Given the description of an element on the screen output the (x, y) to click on. 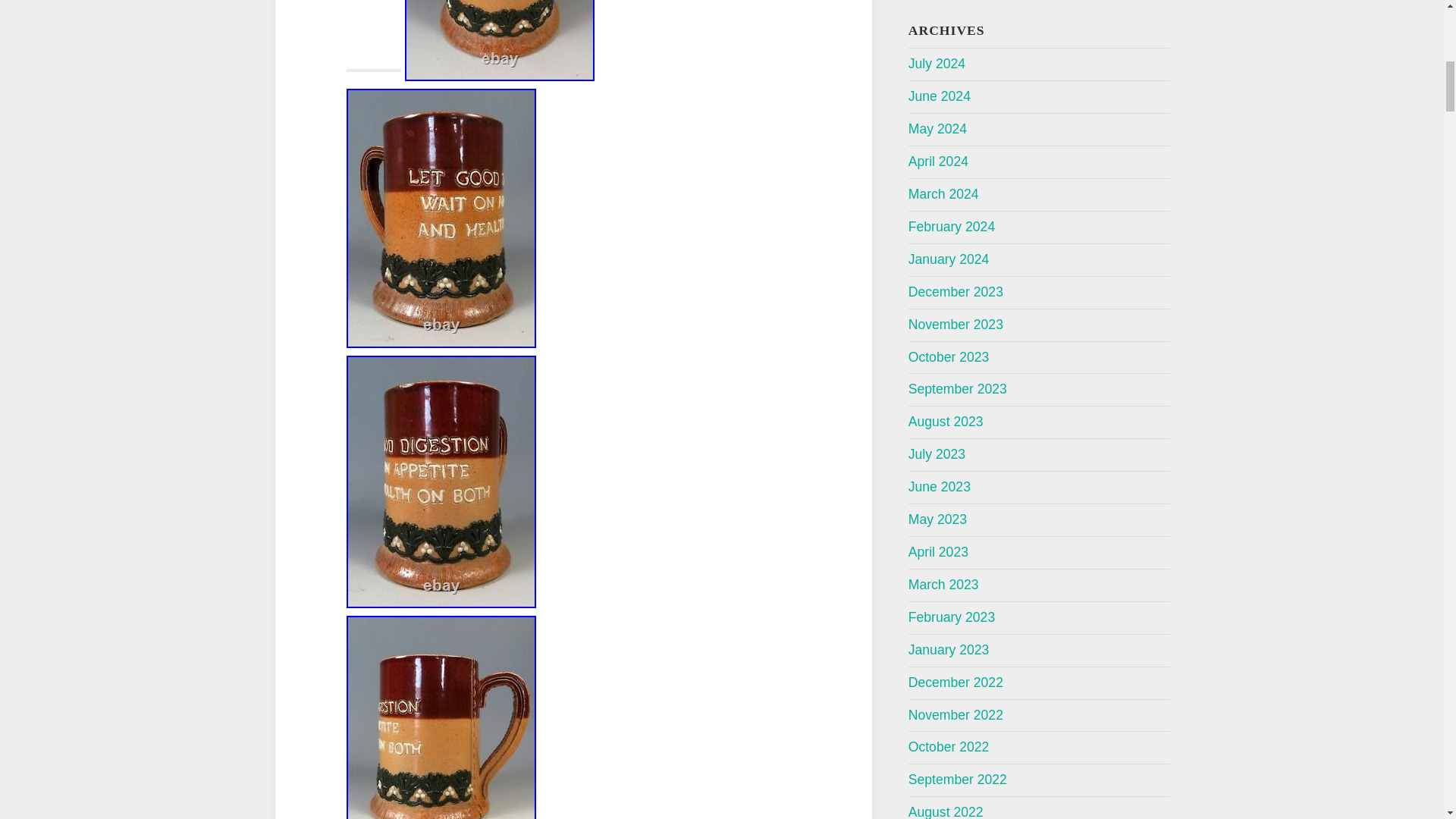
July 2024 (936, 63)
Doulton Lambeth Salt Glazed Stoneware Motto Tankard (440, 717)
March 2024 (943, 193)
June 2024 (939, 96)
May 2024 (937, 128)
Doulton Lambeth Salt Glazed Stoneware Motto Tankard (499, 40)
February 2024 (951, 226)
January 2024 (949, 258)
April 2024 (938, 160)
